Given the description of an element on the screen output the (x, y) to click on. 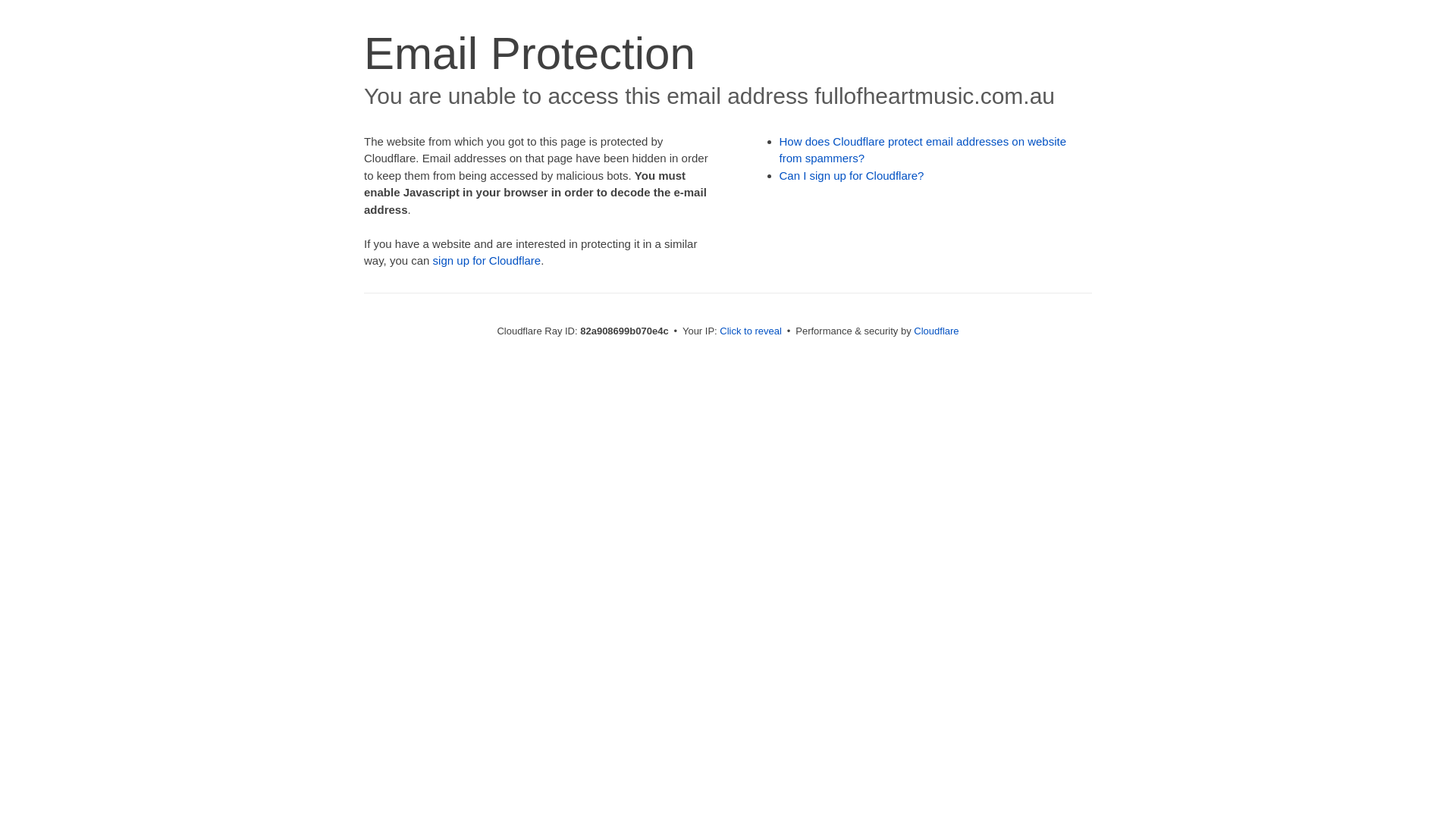
Can I sign up for Cloudflare? Element type: text (851, 175)
sign up for Cloudflare Element type: text (487, 260)
Cloudflare Element type: text (935, 330)
Click to reveal Element type: text (750, 330)
